Given the description of an element on the screen output the (x, y) to click on. 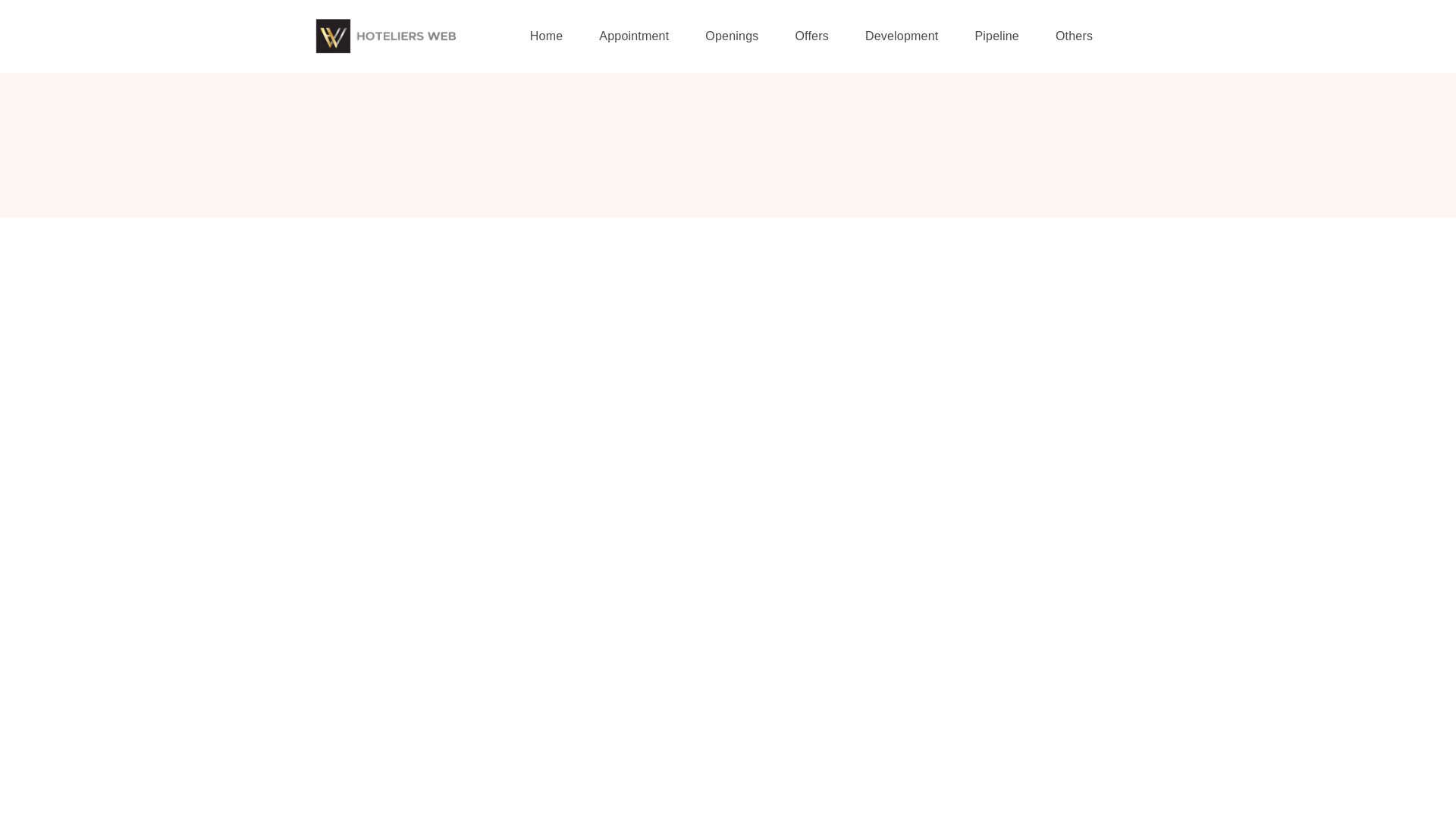
Offers (811, 36)
Appointment (633, 36)
Development (901, 36)
Others (1074, 36)
Openings (731, 36)
Home (546, 36)
Pipeline (996, 36)
